Given the description of an element on the screen output the (x, y) to click on. 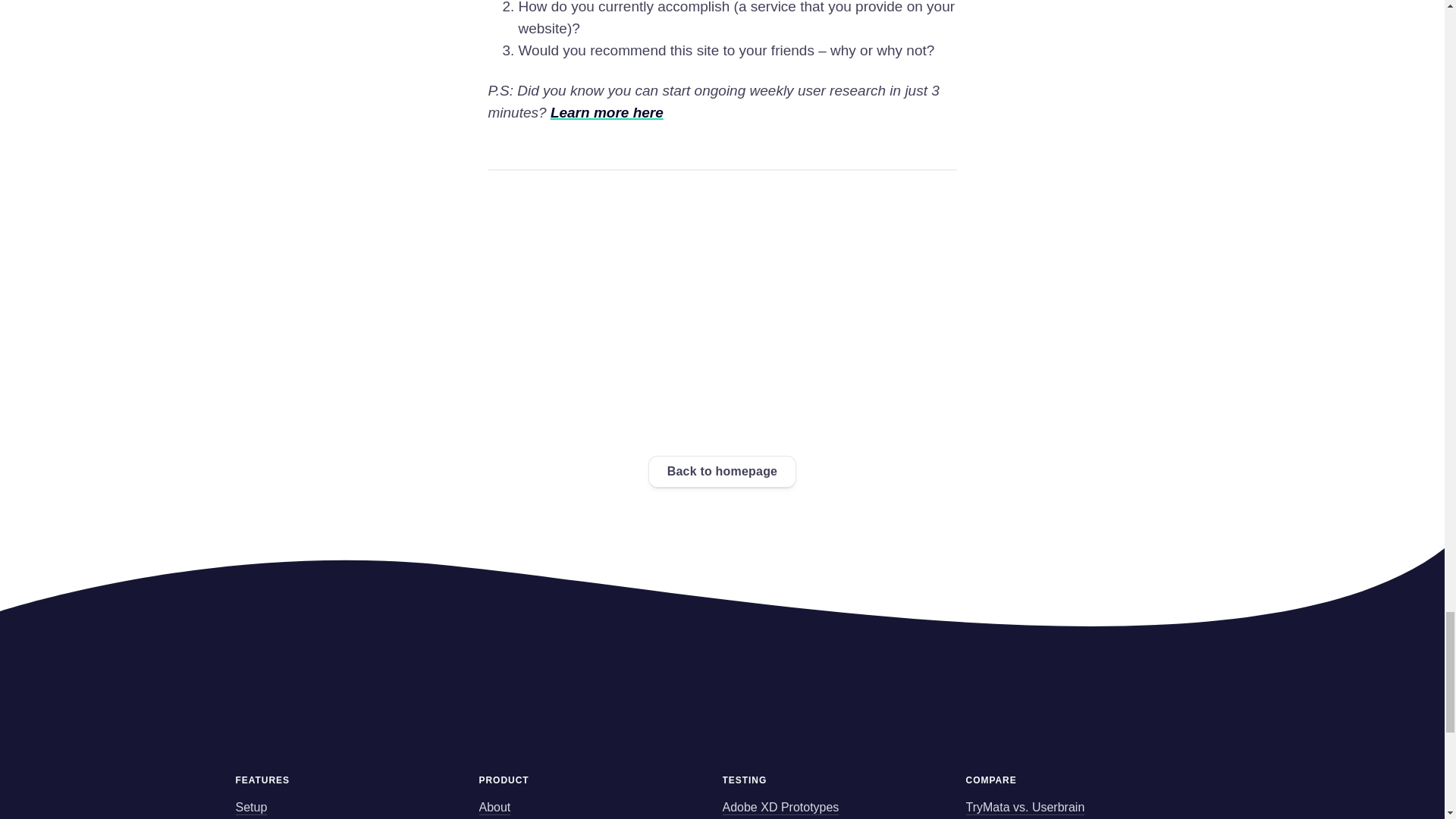
Learn more here (606, 112)
Setup (250, 807)
Back to homepage (721, 471)
